Given the description of an element on the screen output the (x, y) to click on. 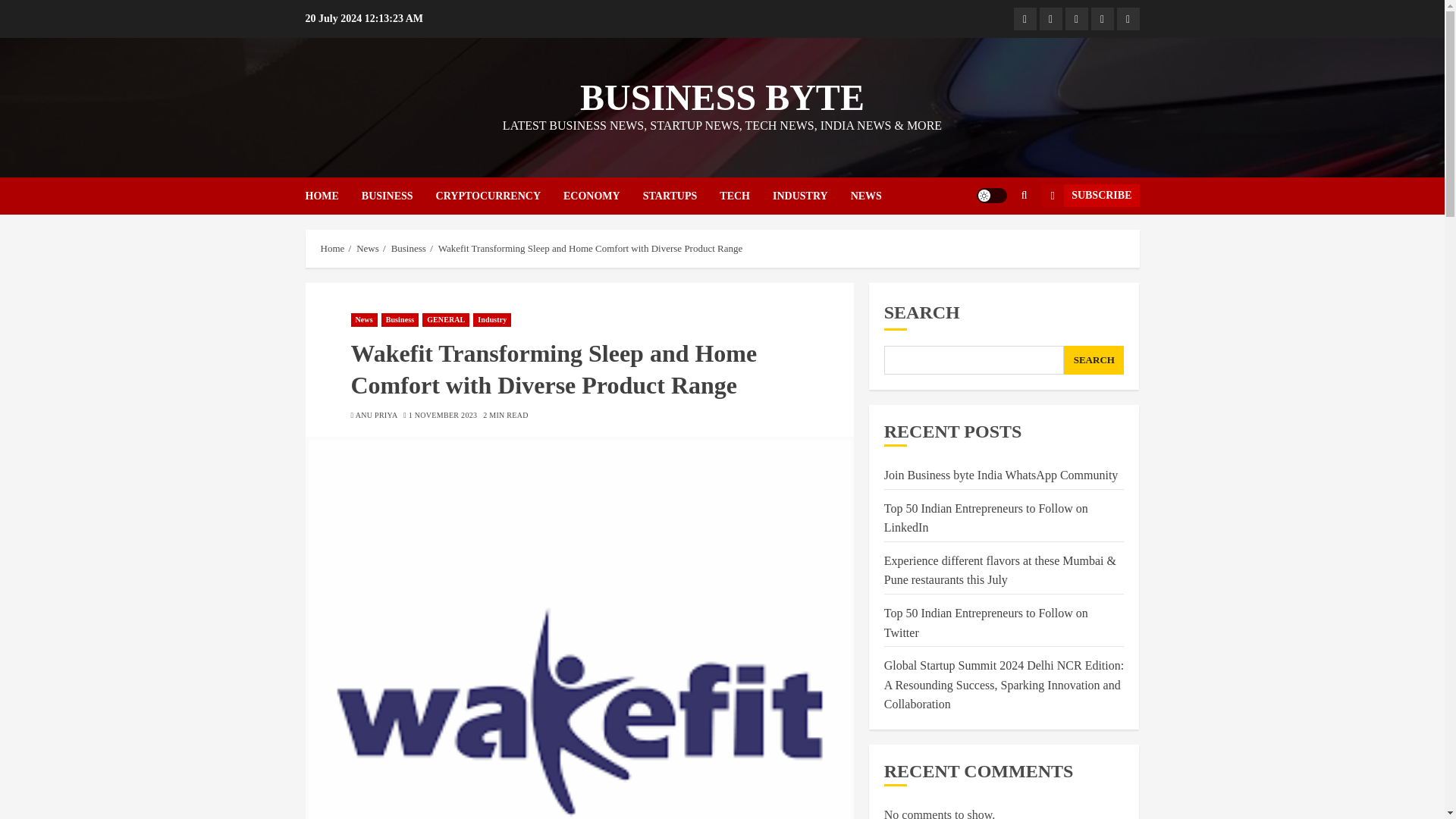
HOME (332, 195)
ANU PRIYA (376, 415)
Linkedin (1075, 18)
Search (994, 241)
Industry (492, 319)
CRYPTOCURRENCY (499, 195)
ECONOMY (603, 195)
News (363, 319)
BUSINESS BYTE (721, 96)
Twitter (1050, 18)
Business (400, 319)
Facebook (1024, 18)
STARTUPS (681, 195)
News (367, 248)
